Given the description of an element on the screen output the (x, y) to click on. 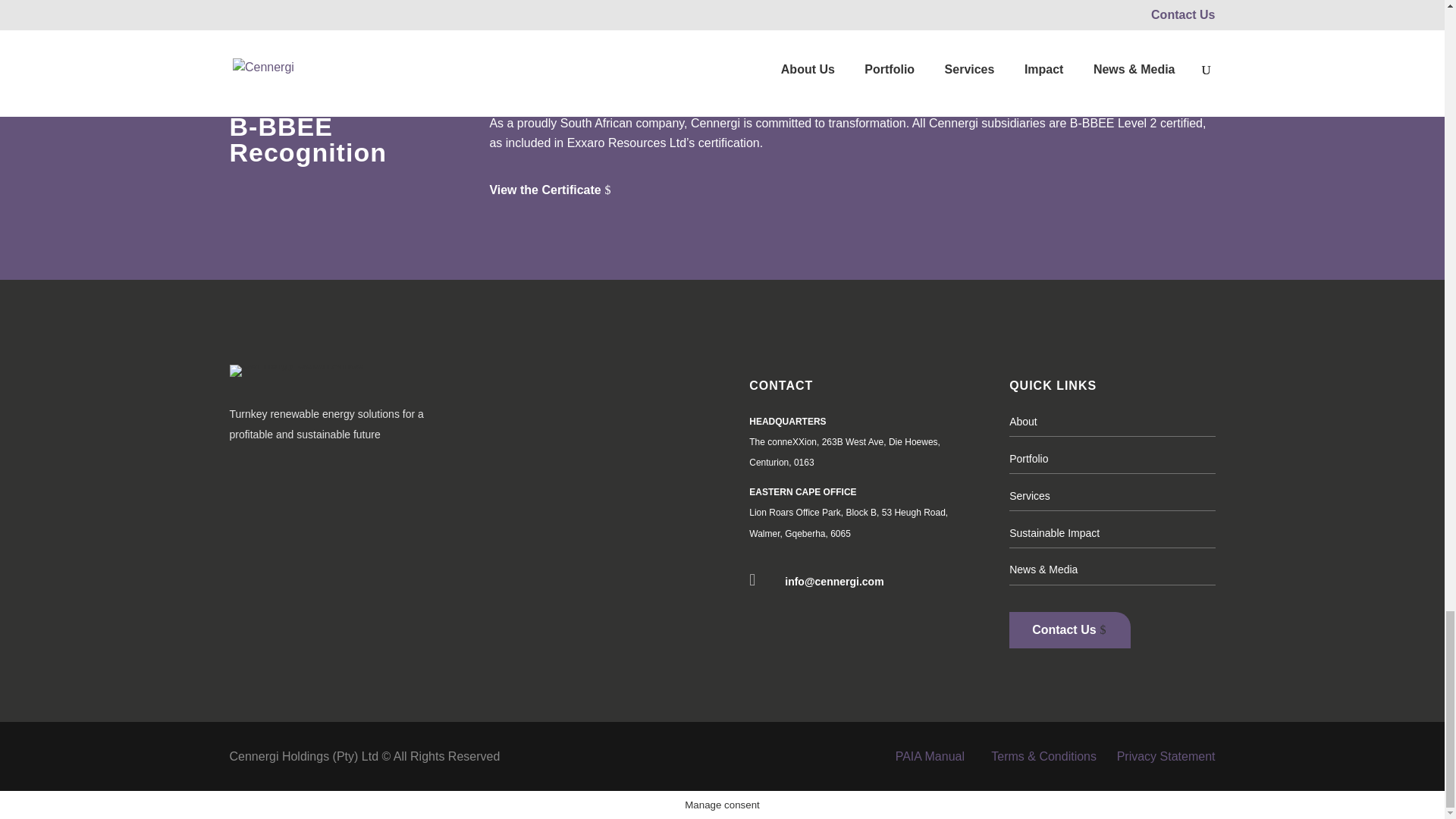
Sustainable Impact (1054, 532)
View the Certificate (556, 191)
Services (1029, 495)
About (1022, 421)
PAIA Manual (929, 756)
Privacy Statement (1165, 756)
Contact Us (1069, 629)
footer-logo (295, 370)
Portfolio (1028, 458)
